Given the description of an element on the screen output the (x, y) to click on. 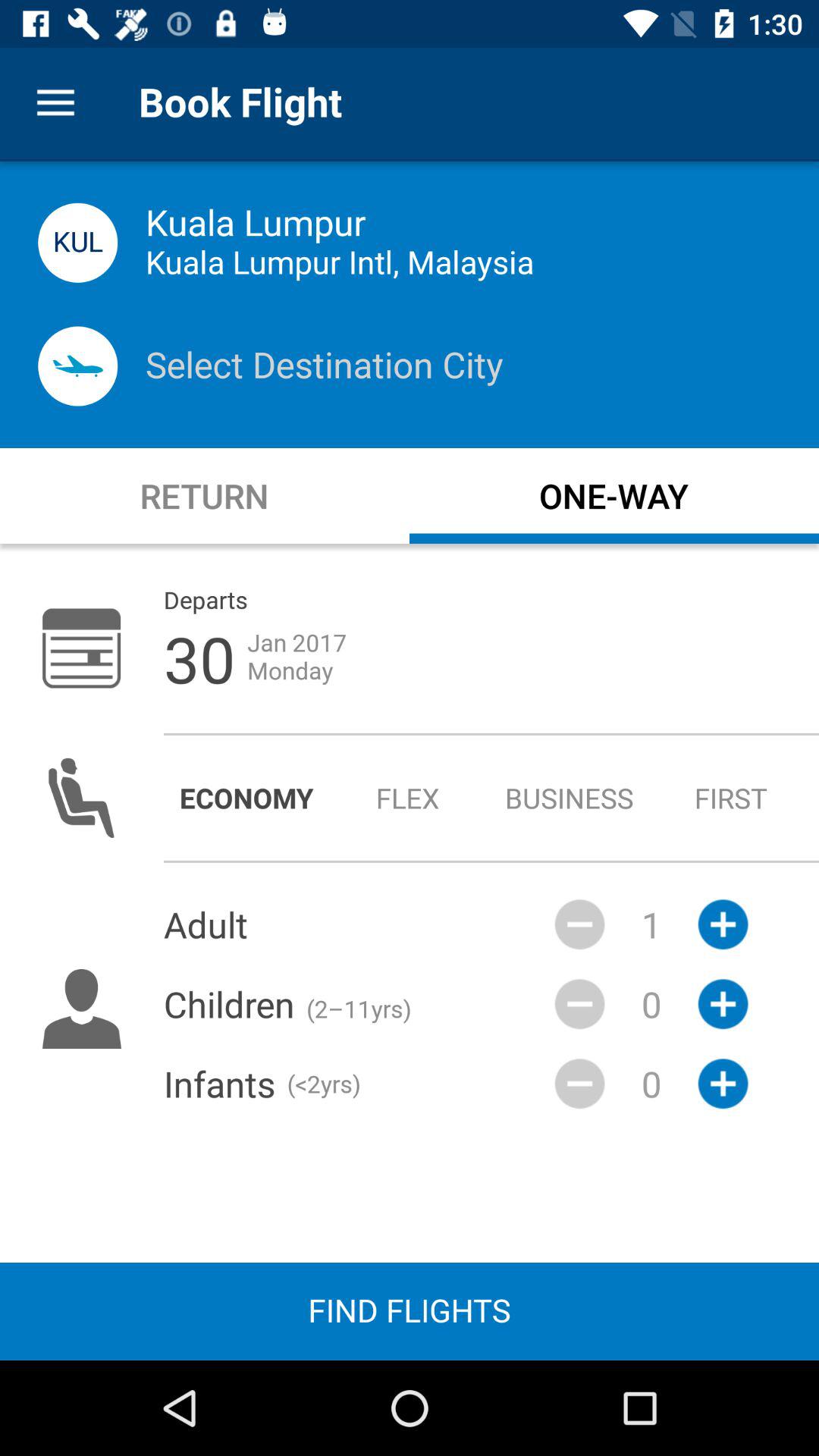
choose the icon to the right of economy icon (407, 797)
